Given the description of an element on the screen output the (x, y) to click on. 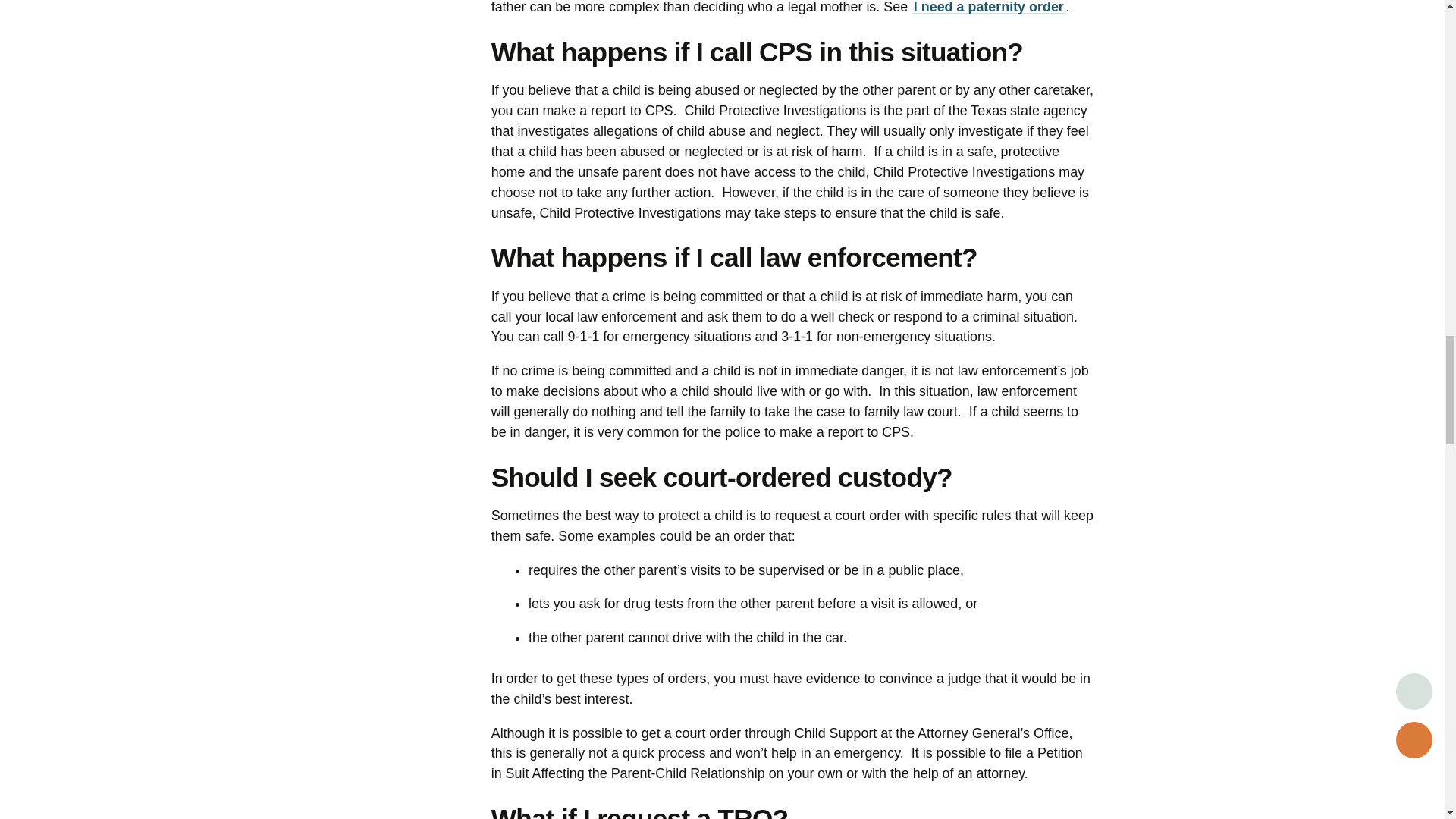
I need a paternity order. (988, 7)
